Given the description of an element on the screen output the (x, y) to click on. 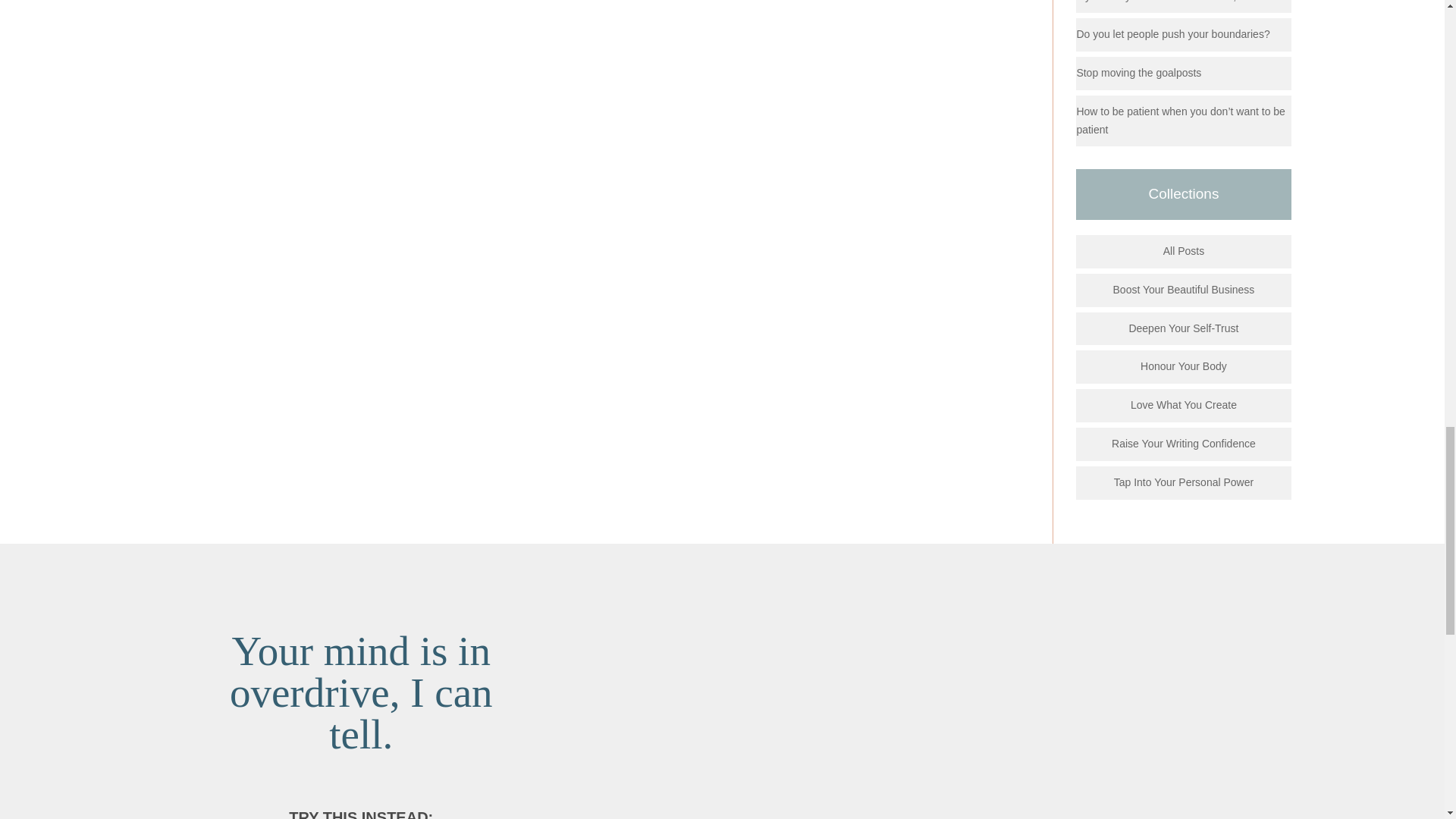
Do you let people push your boundaries? (1172, 33)
Boost Your Beautiful Business (1184, 289)
Tap Into Your Personal Power (1183, 481)
Raise Your Writing Confidence (1183, 443)
Deepen Your Self-Trust (1183, 328)
Honour Your Body (1183, 366)
All Posts (1183, 250)
Stop moving the goalposts (1138, 72)
Love What You Create (1183, 404)
